Given the description of an element on the screen output the (x, y) to click on. 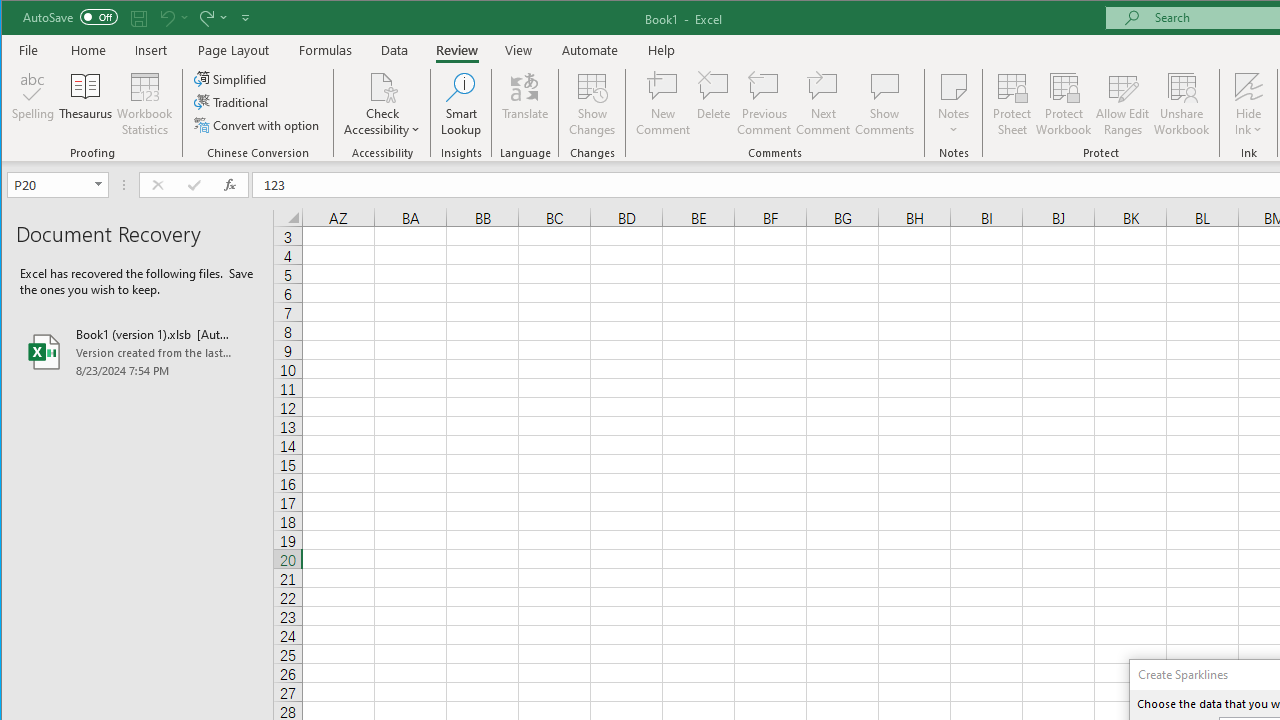
Previous Comment (763, 104)
Quick Access Toolbar (137, 17)
Translate (525, 104)
File Tab (29, 49)
Show Changes (592, 104)
Convert with option (258, 124)
Protect Workbook... (1064, 104)
Customize Quick Access Toolbar (245, 17)
Automate (589, 50)
Protect Sheet... (1012, 104)
